Given the description of an element on the screen output the (x, y) to click on. 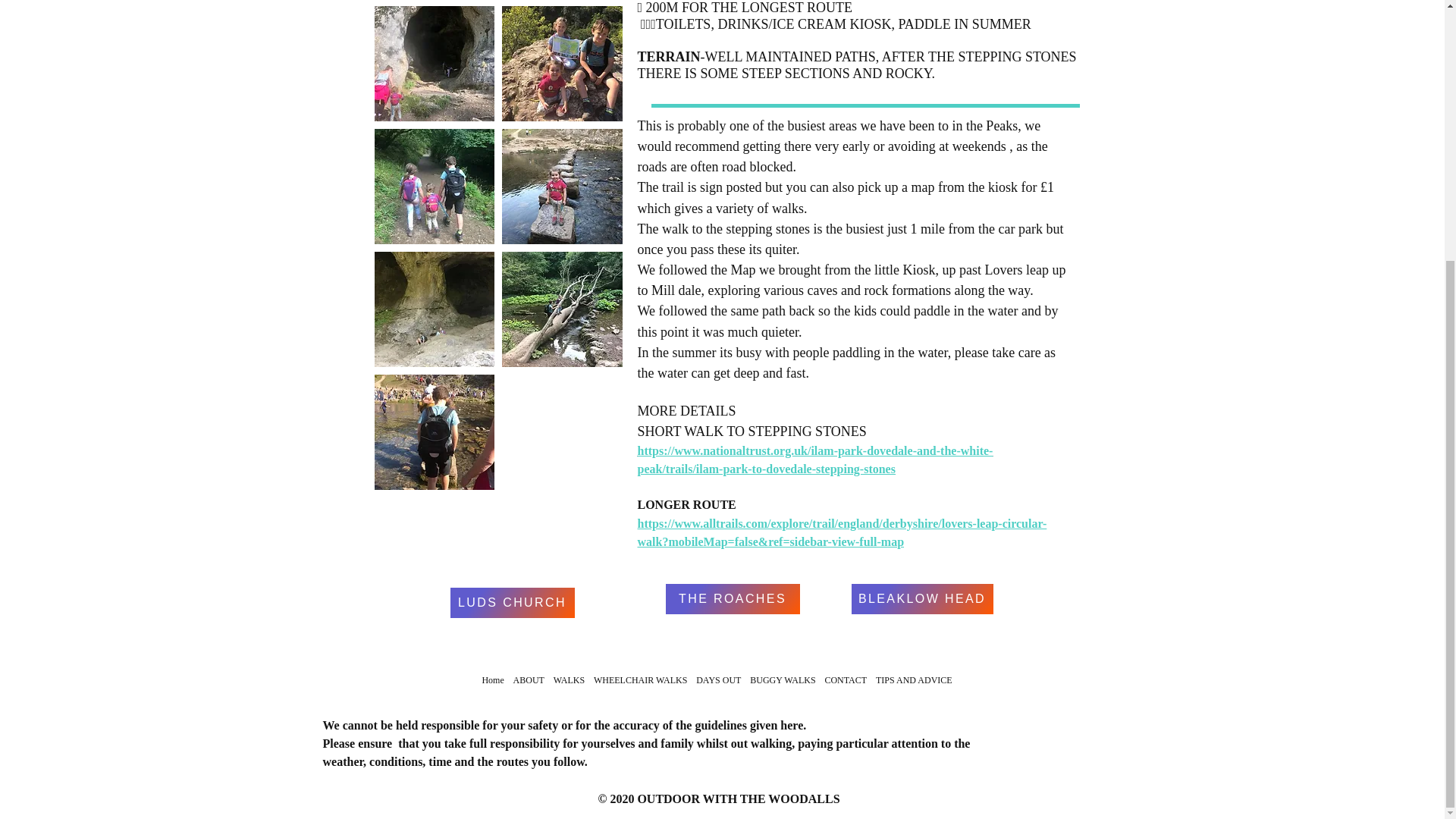
THE ROACHES (732, 598)
WALKS (568, 680)
Home (492, 680)
BLEAKLOW HEAD (921, 598)
LUDS CHURCH (512, 603)
ABOUT (528, 680)
